Given the description of an element on the screen output the (x, y) to click on. 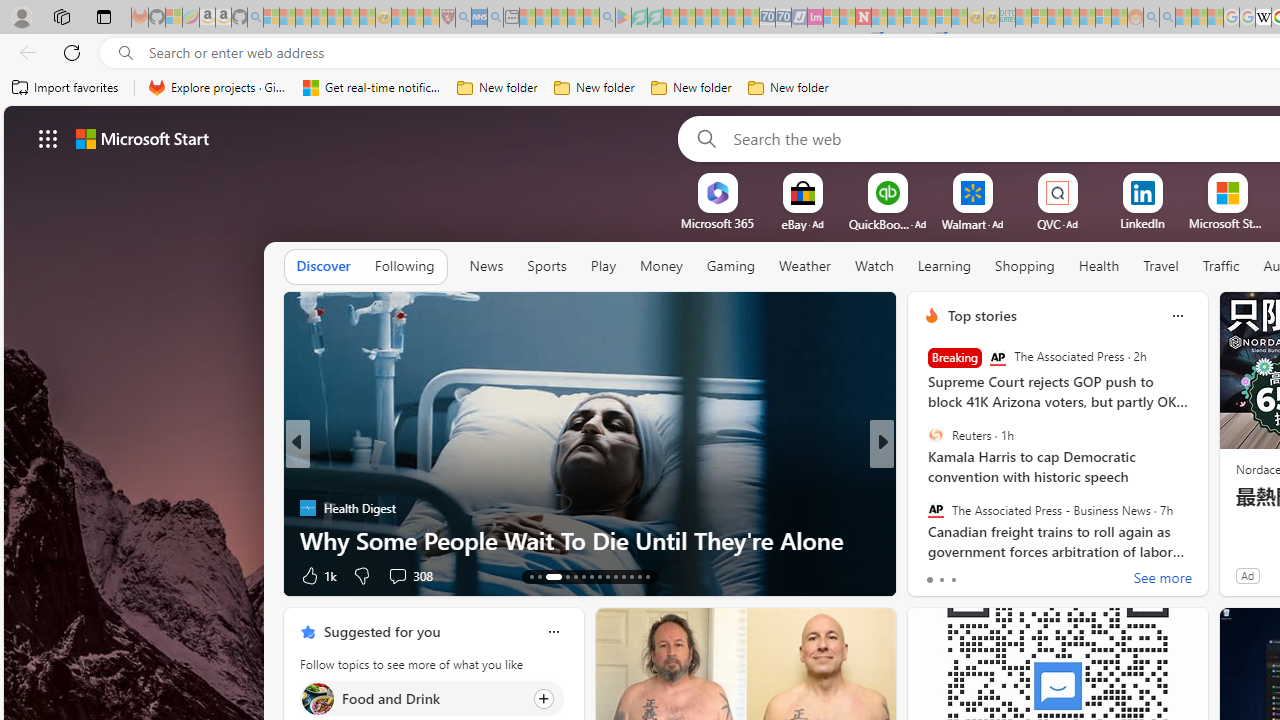
The Associated Press (997, 358)
View comments 2 Comment (1014, 575)
XDA Developers (923, 507)
View comments 84 Comment (1019, 575)
AutomationID: tab-18 (582, 576)
AutomationID: tab-24 (631, 576)
Dagens News (US) (923, 507)
LinkedIn (1142, 223)
Reuters (935, 435)
Microsoft start (142, 138)
Class: icon-img (553, 632)
54 Like (934, 574)
